Given the description of an element on the screen output the (x, y) to click on. 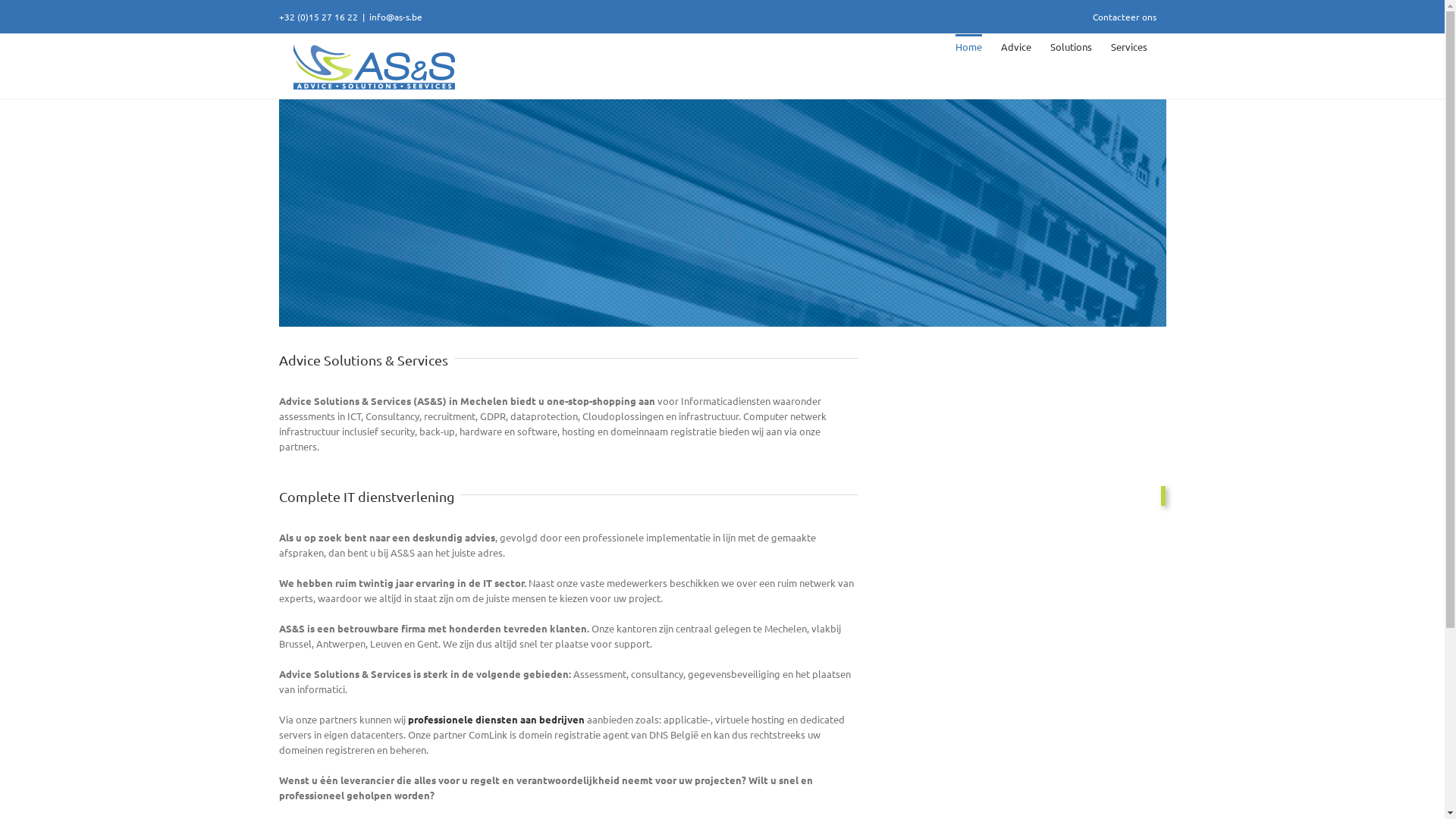
Advice Element type: text (1016, 45)
Contacteer ons Element type: text (1124, 16)
info@as-s.be Element type: text (394, 16)
Solutions Element type: text (1070, 45)
professionele diensten aan bedrijven  Element type: text (496, 718)
Services Element type: text (1128, 45)
Home Element type: text (968, 45)
